Given the description of an element on the screen output the (x, y) to click on. 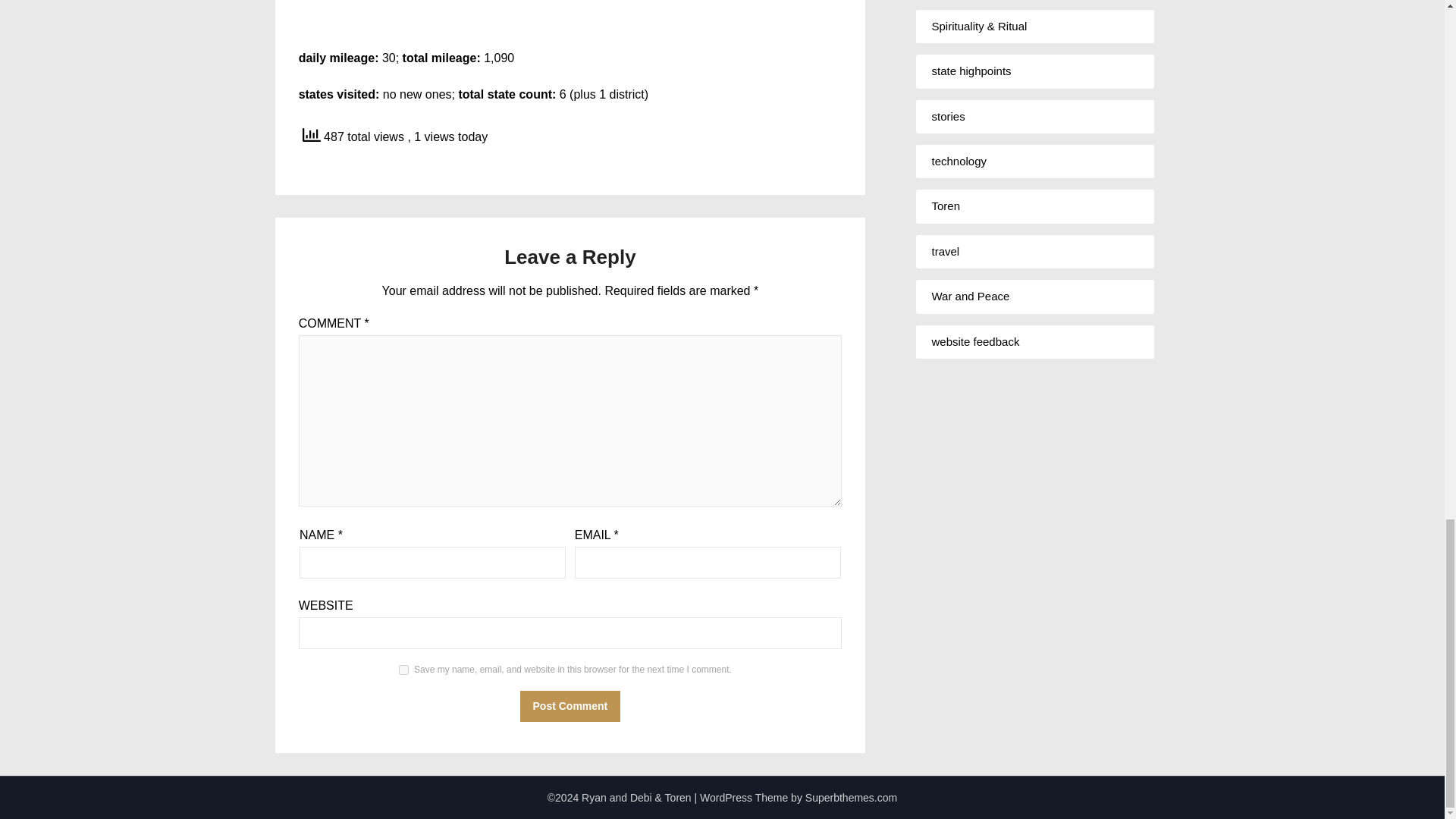
Post Comment (570, 706)
state highpoints (970, 70)
technology (959, 160)
Post Comment (570, 706)
yes (403, 669)
stories (947, 115)
